Given the description of an element on the screen output the (x, y) to click on. 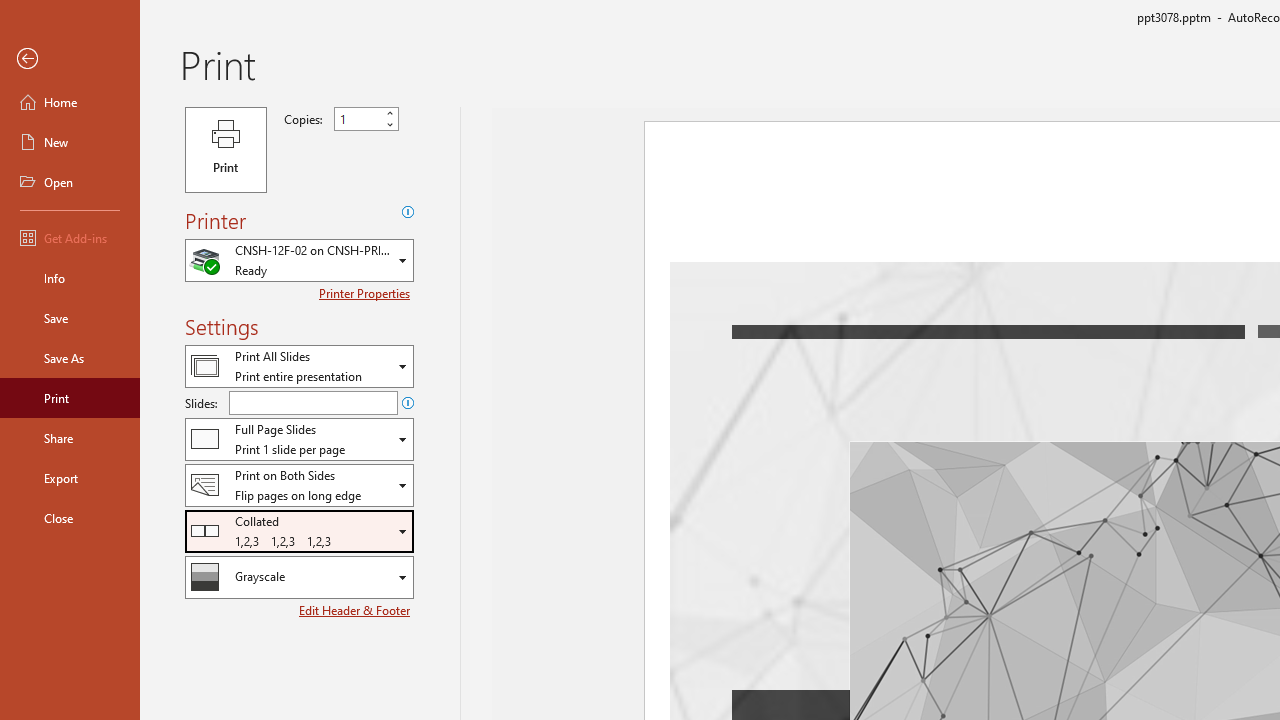
Printer Properties (365, 293)
Copies (366, 119)
Two-Sided Printing (299, 484)
Print (226, 149)
Color/Grayscale (299, 577)
Edit Header & Footer (356, 610)
Collation (299, 530)
Print (69, 398)
Print What (299, 366)
